Given the description of an element on the screen output the (x, y) to click on. 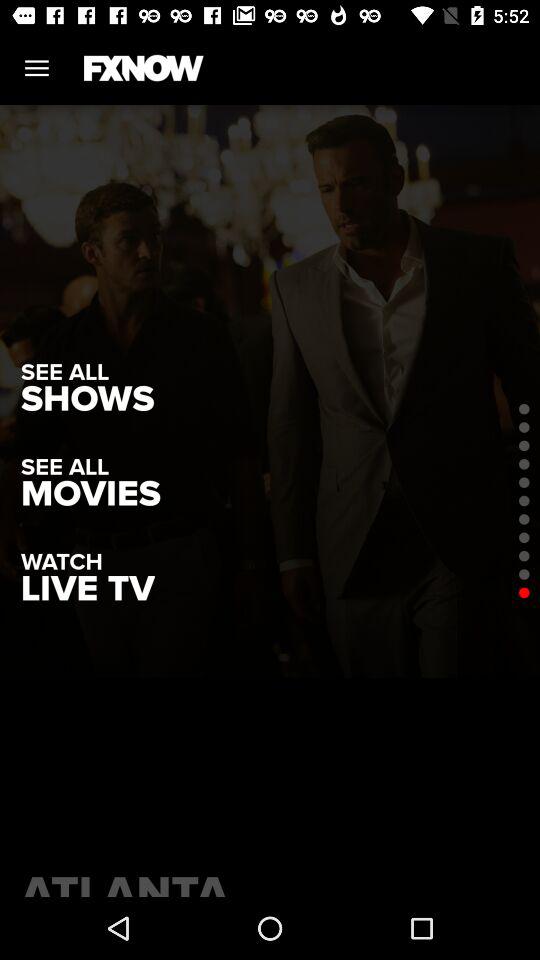
open item below the shows item (90, 493)
